Given the description of an element on the screen output the (x, y) to click on. 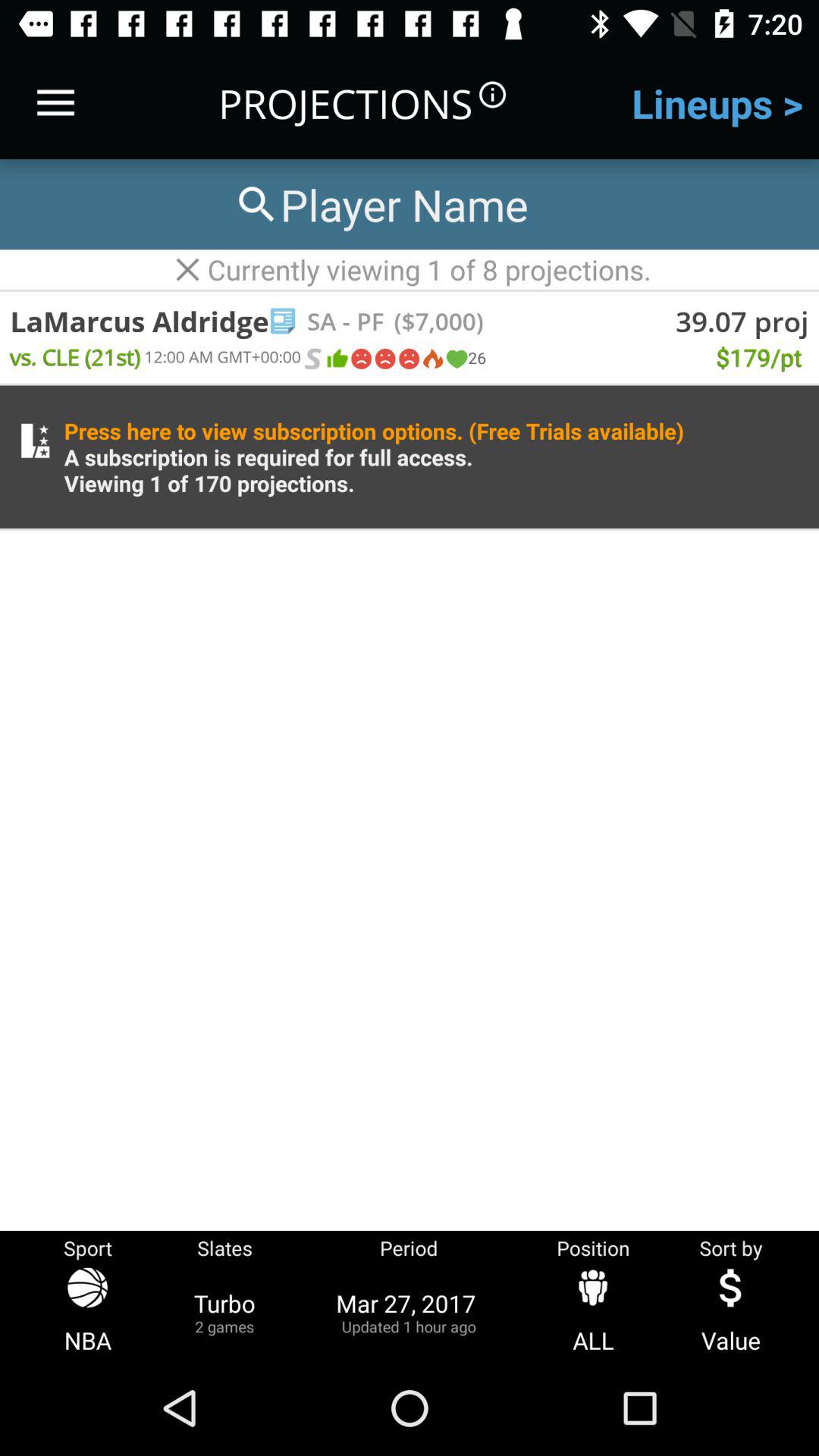
search players (380, 204)
